Given the description of an element on the screen output the (x, y) to click on. 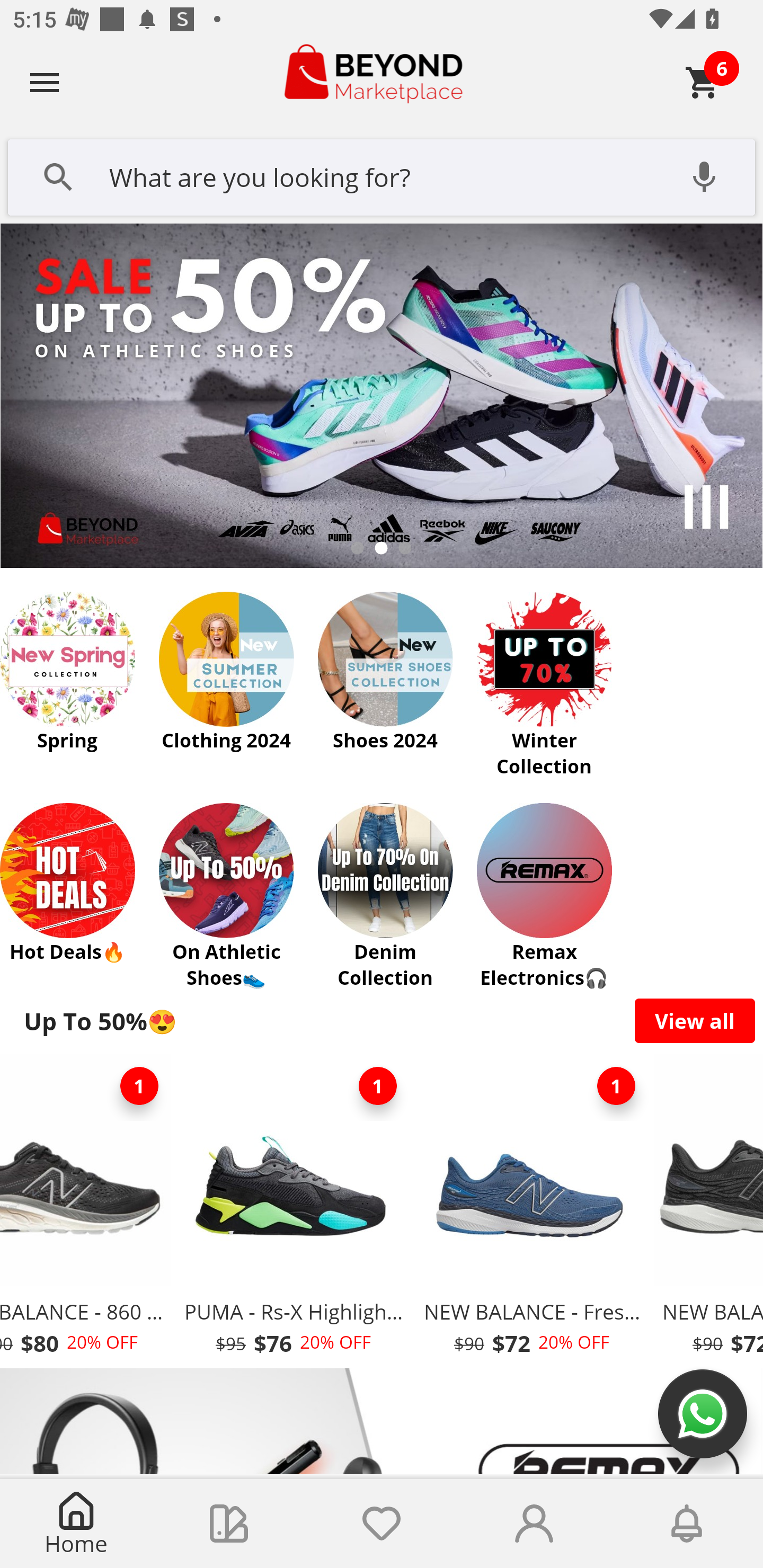
Navigate up (44, 82)
What are you looking for? (381, 175)
View all (694, 1020)
1 NEW BALANCE - 860 Running Shoes $100 $80 20% OFF (86, 1209)
1 (138, 1085)
1 (377, 1085)
1 (615, 1085)
Collections (228, 1523)
Wishlist (381, 1523)
Account (533, 1523)
Notifications (686, 1523)
